Given the description of an element on the screen output the (x, y) to click on. 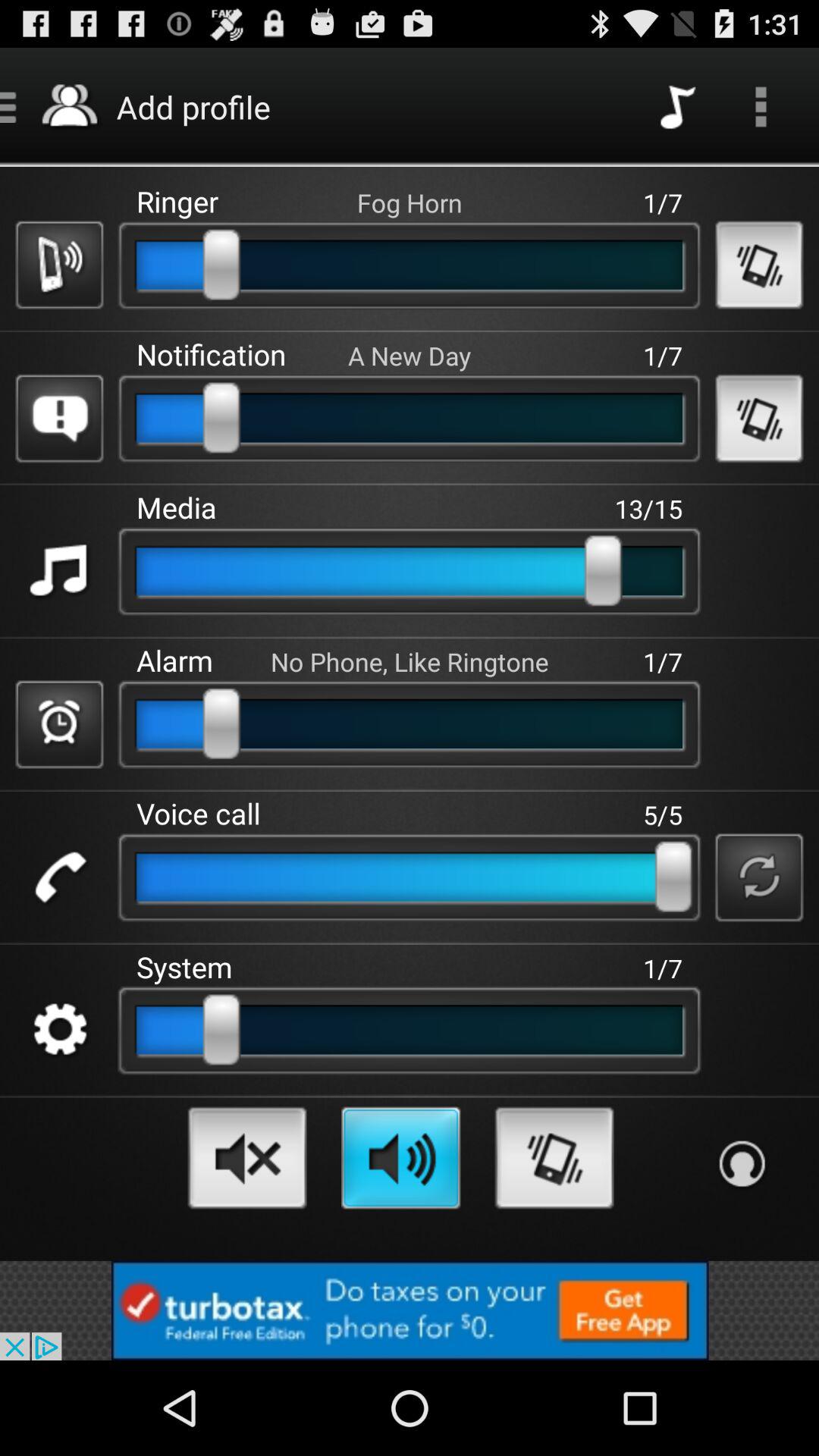
setting switch (59, 1030)
